Given the description of an element on the screen output the (x, y) to click on. 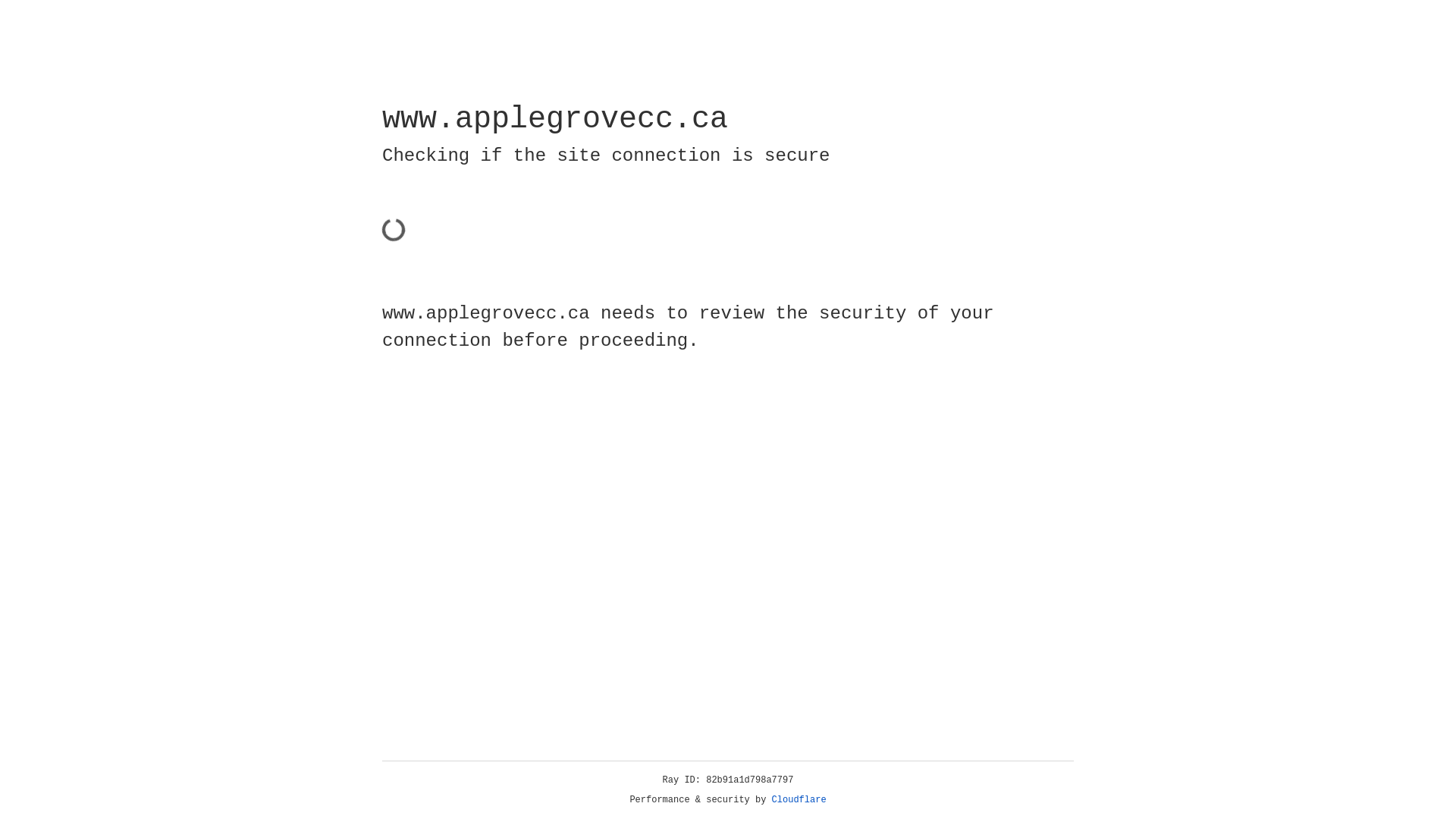
Cloudflare Element type: text (798, 799)
